Given the description of an element on the screen output the (x, y) to click on. 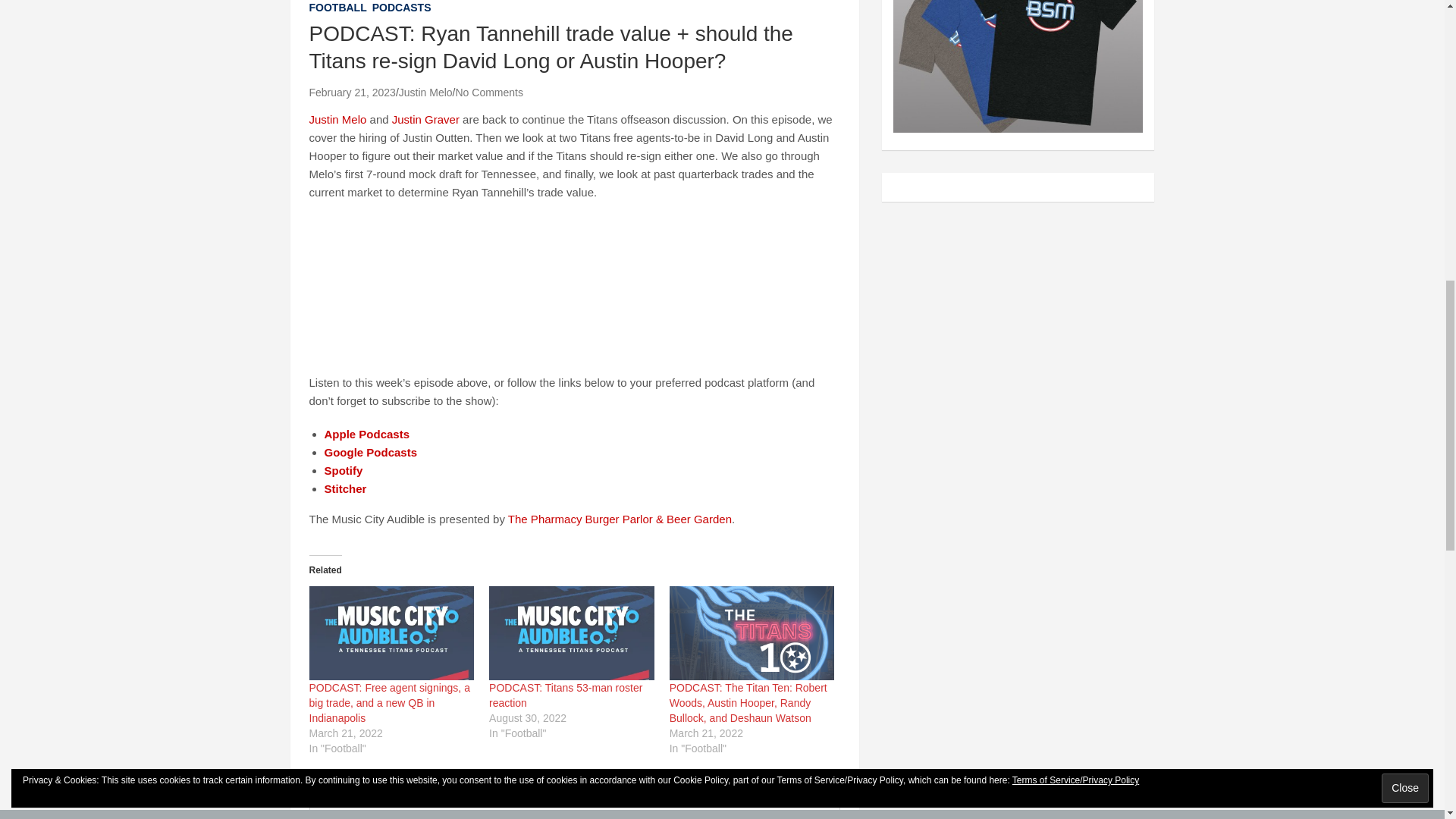
PODCAST: Titans 53-man roster reaction (571, 633)
PODCAST: Titans 53-man roster reaction (565, 695)
